Given the description of an element on the screen output the (x, y) to click on. 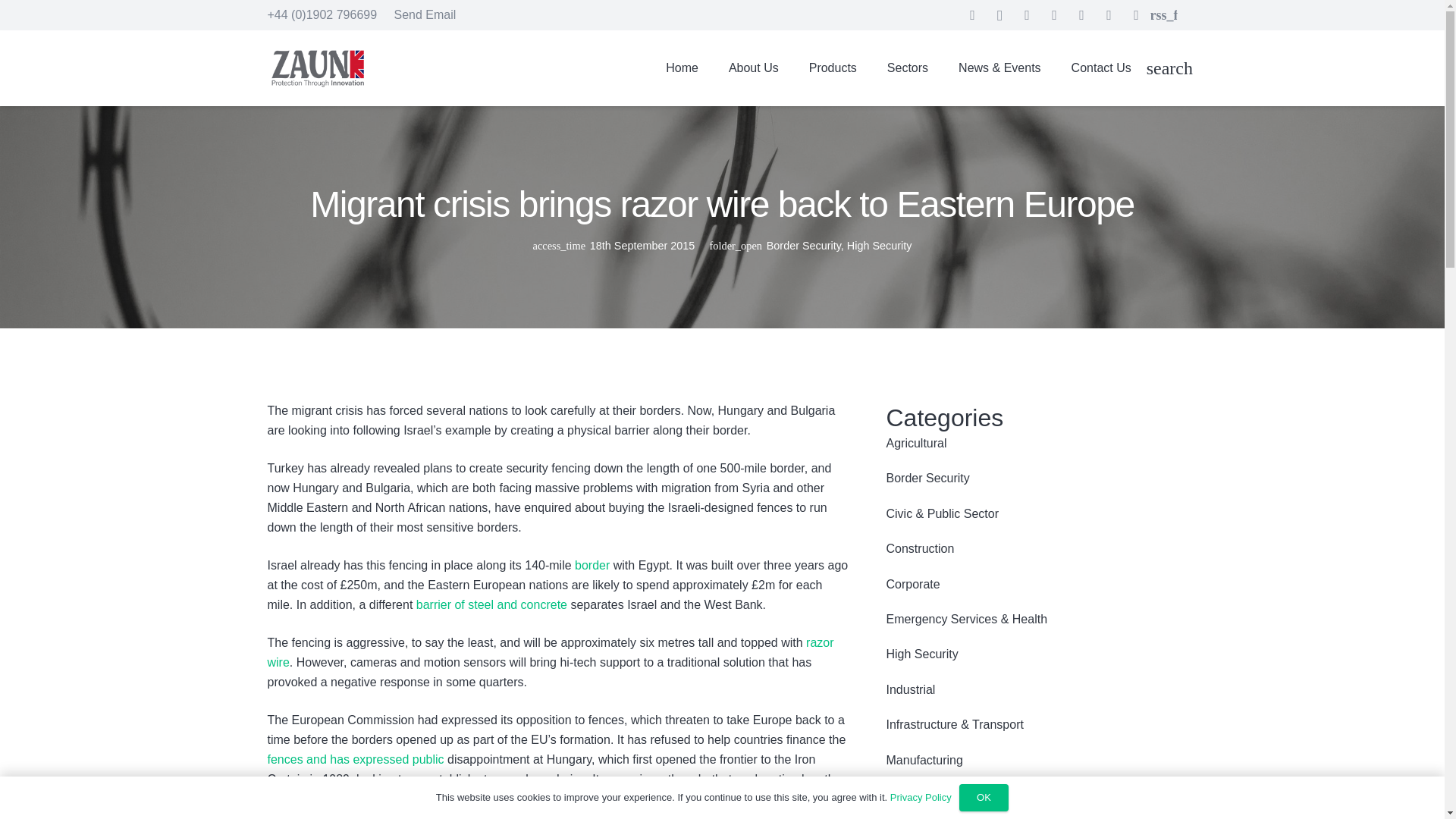
Pinterest (1082, 14)
How can fences help save public spaces? (355, 758)
YouTube (1136, 14)
Vimeo (1109, 14)
Instagram (1000, 14)
About Us (753, 67)
Products (832, 67)
border (592, 564)
Twitter (1054, 14)
RSS (1163, 14)
LinkedIn (1027, 14)
Send Email (424, 14)
Facebook (973, 14)
Home (681, 67)
